Given the description of an element on the screen output the (x, y) to click on. 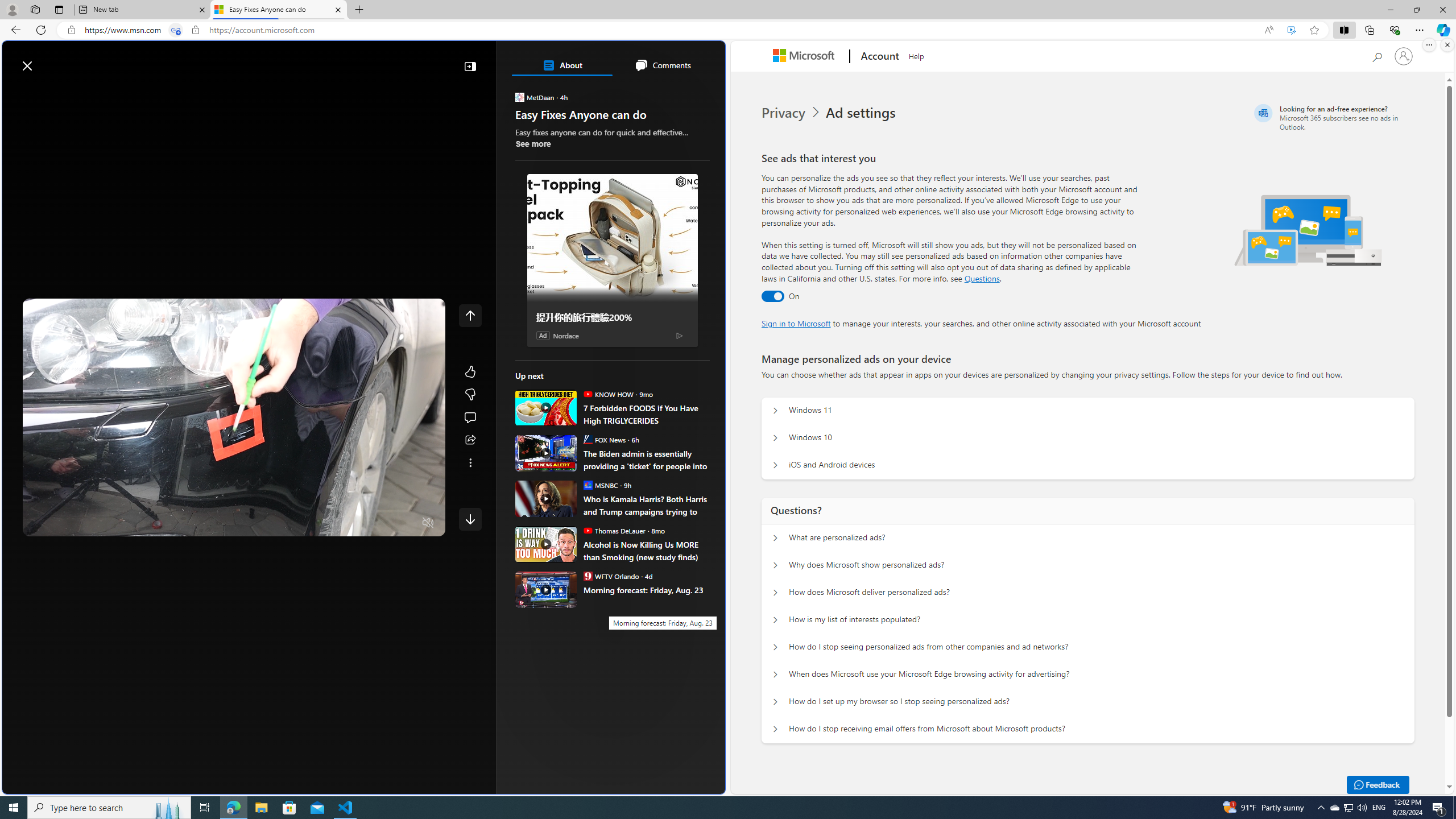
Enter your search term (366, 59)
Thomas DeLauer Thomas DeLauer (613, 529)
Open navigation menu (16, 92)
Questions? Why does Microsoft show personalized ads? (775, 565)
Collapse (469, 65)
Like (469, 371)
Captions (383, 523)
